Given the description of an element on the screen output the (x, y) to click on. 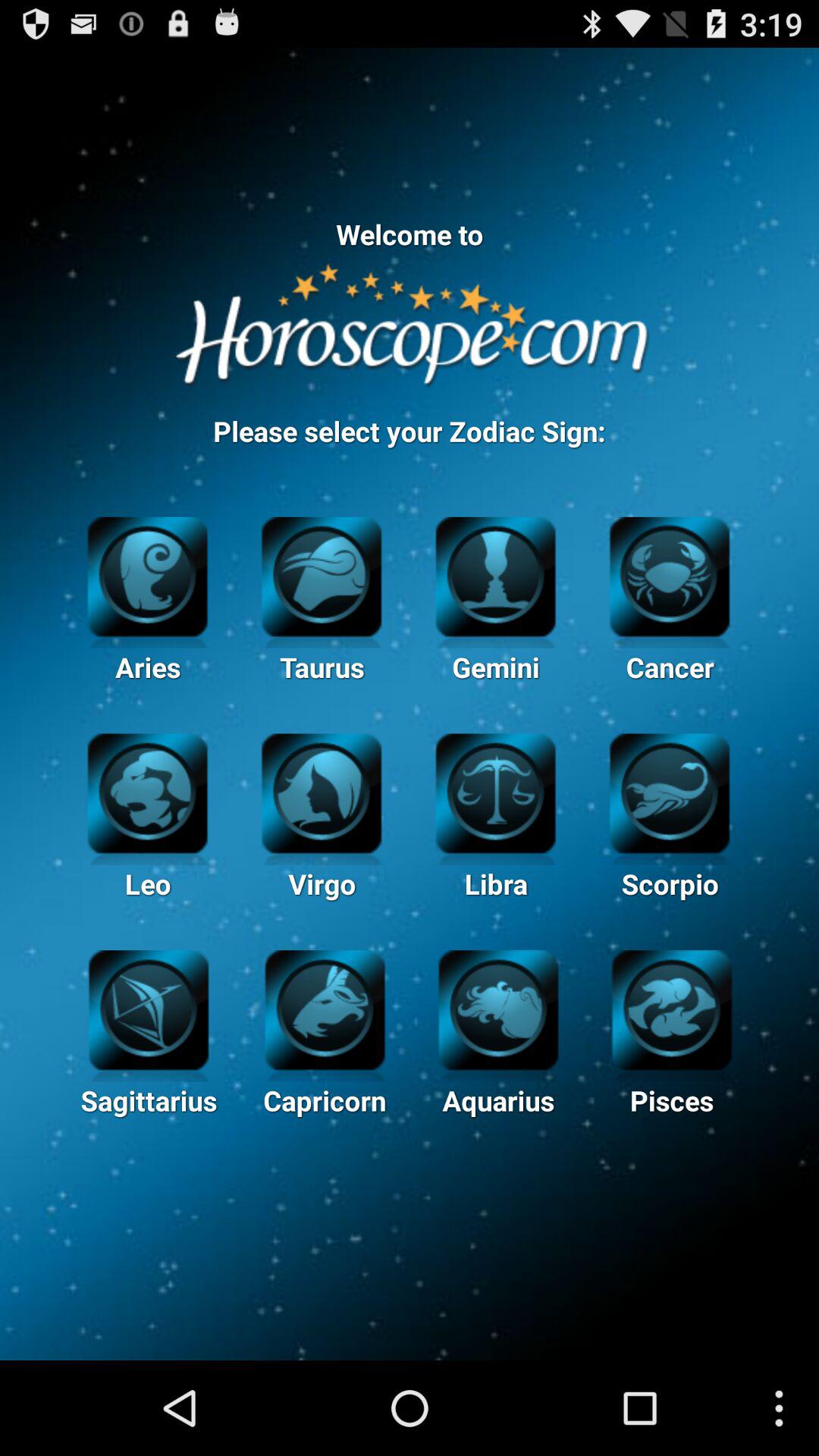
new page virgo (321, 791)
